Given the description of an element on the screen output the (x, y) to click on. 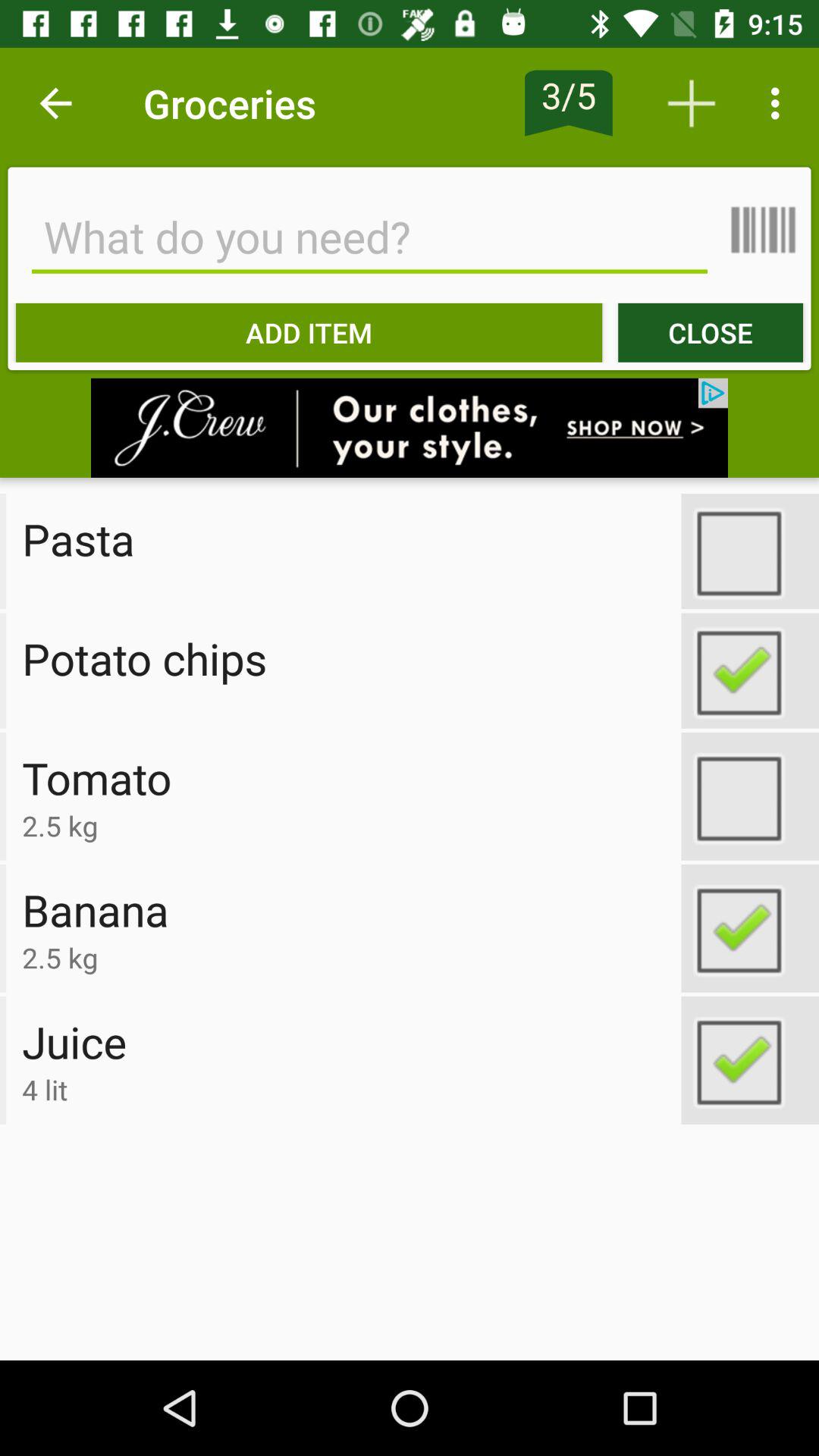
select option (750, 670)
